Given the description of an element on the screen output the (x, y) to click on. 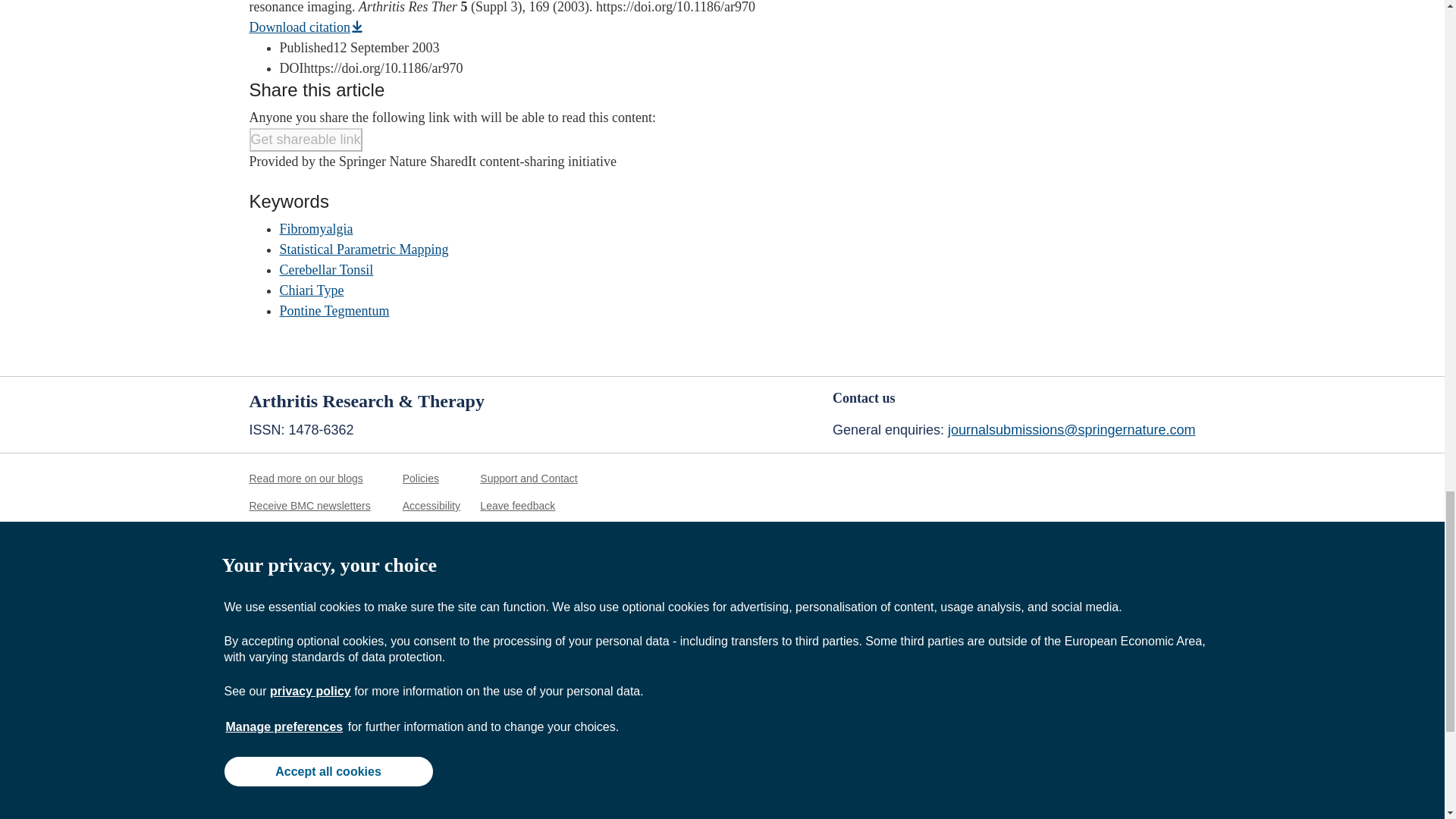
Digital Object Identifier (290, 68)
